Given the description of an element on the screen output the (x, y) to click on. 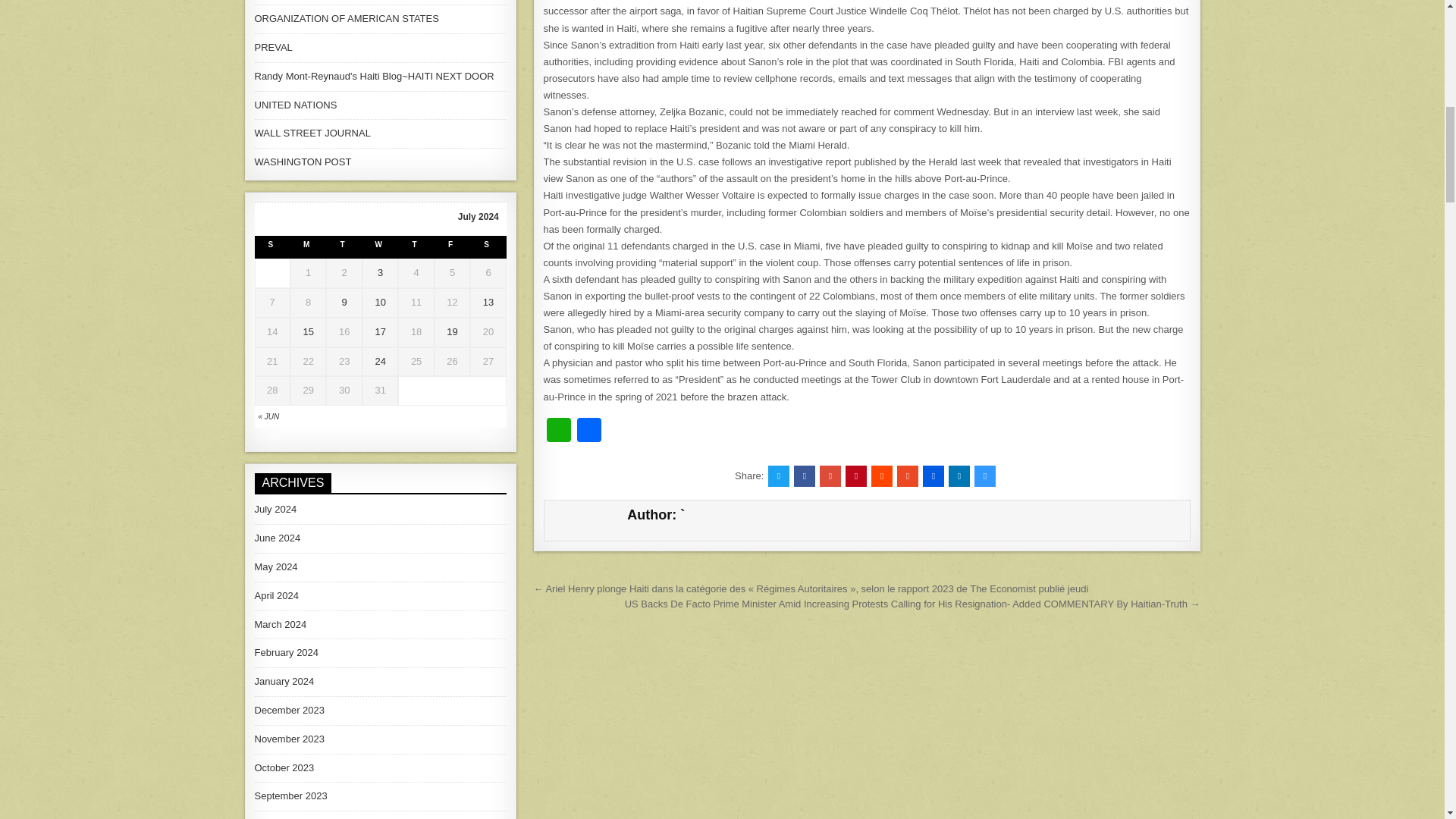
Sunday (271, 246)
WhatsApp (558, 431)
Share this on Reddit (881, 476)
Tuesday (343, 246)
Share this on Pinterest (855, 476)
WhatsApp (558, 431)
Share this on Digg (933, 476)
Share this on Delicious (984, 476)
Monday (307, 246)
Share this on Stumbleupon (907, 476)
Share this on Facebook (804, 476)
Tweet This! (778, 476)
Share (588, 431)
Share this on Linkedin (959, 476)
